Given the description of an element on the screen output the (x, y) to click on. 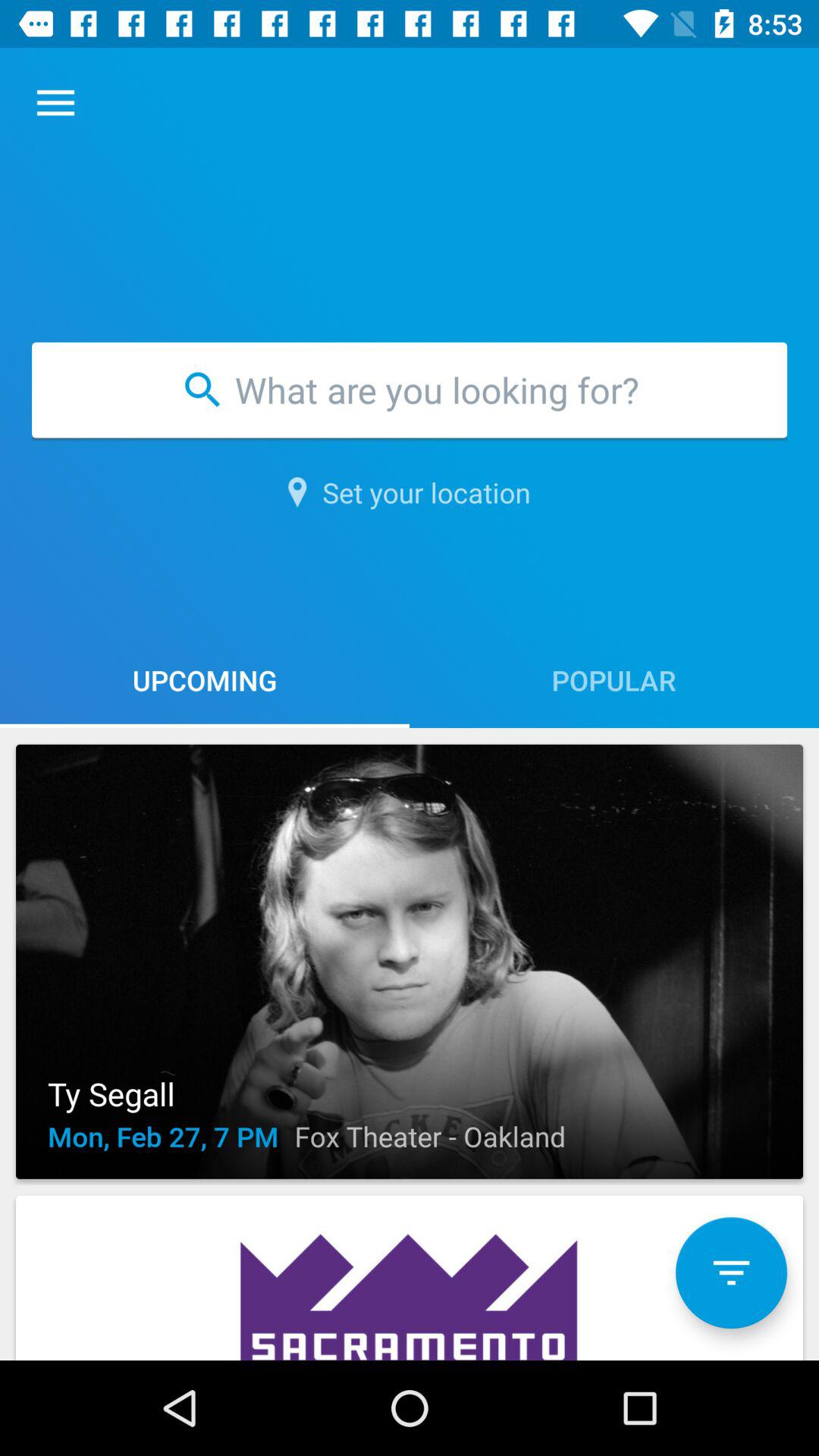
volume (731, 1272)
